Given the description of an element on the screen output the (x, y) to click on. 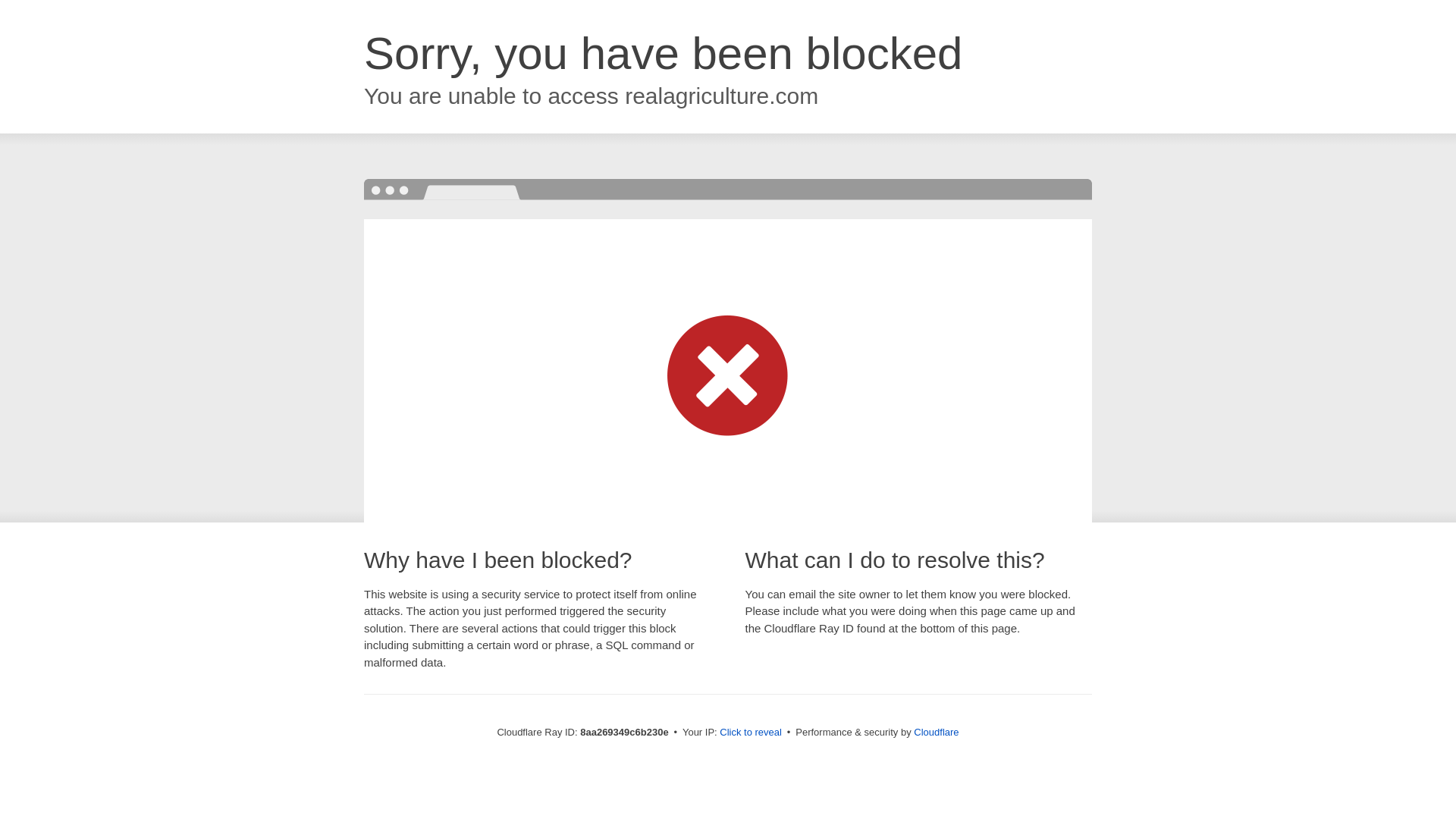
Cloudflare (936, 731)
Click to reveal (750, 732)
